Given the description of an element on the screen output the (x, y) to click on. 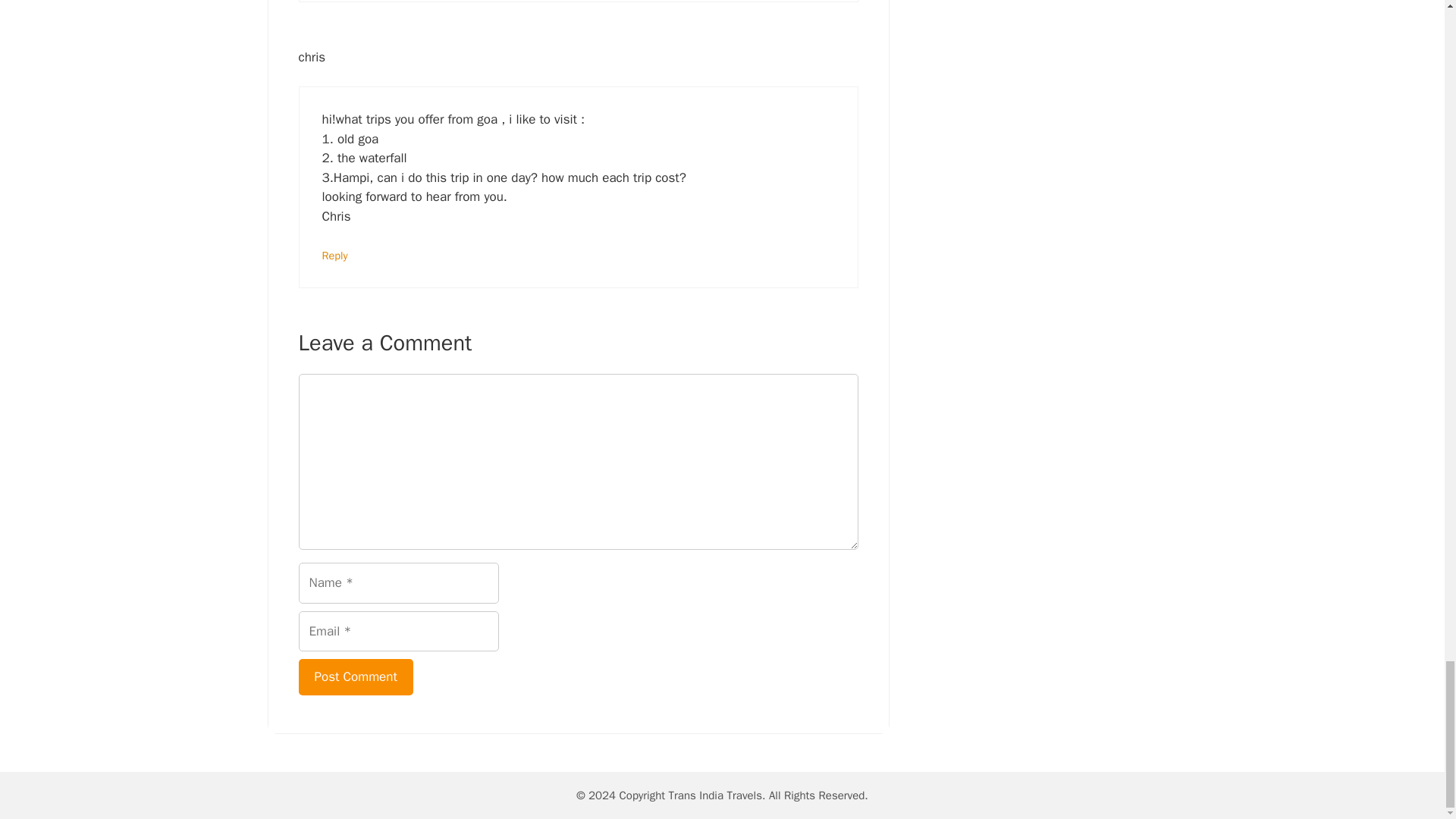
Post Comment (355, 677)
